Given the description of an element on the screen output the (x, y) to click on. 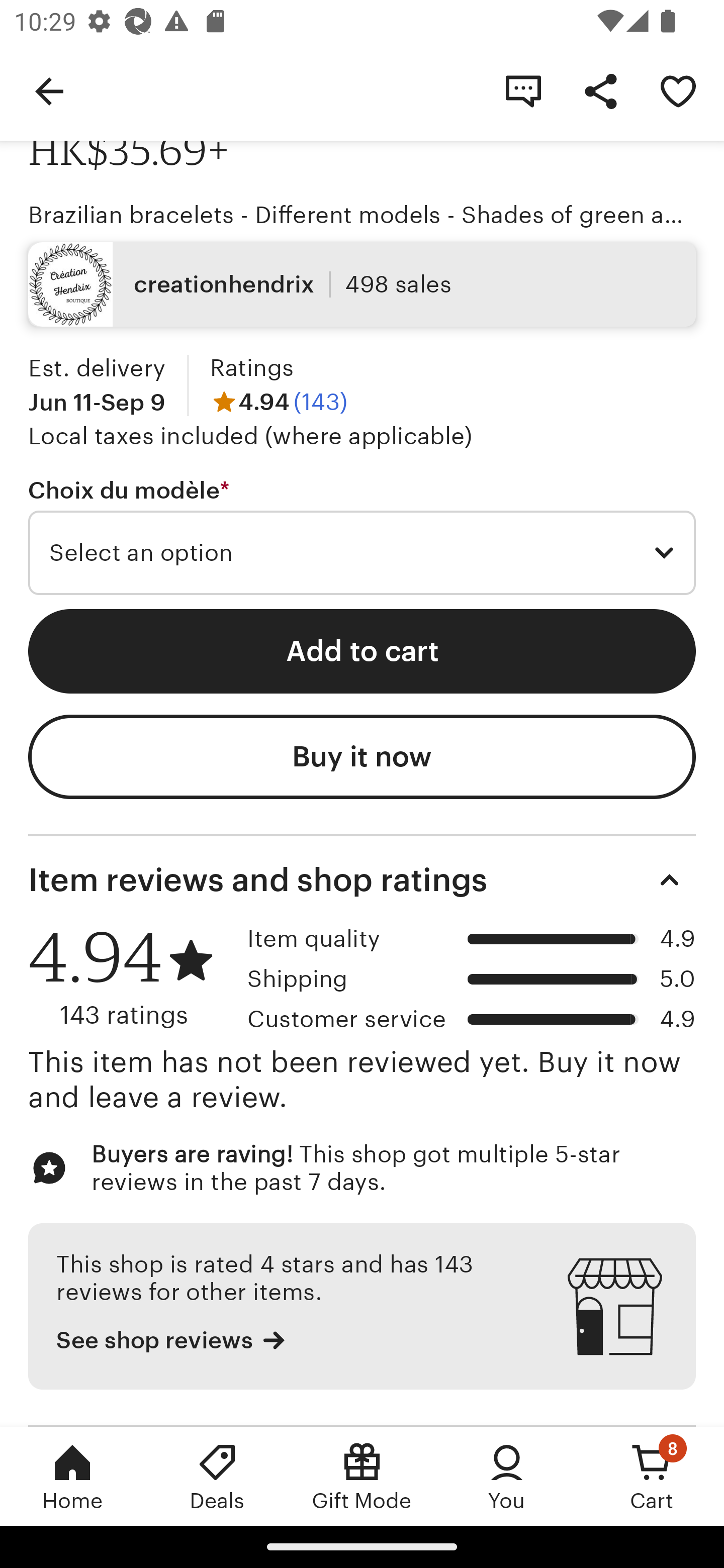
Navigate up (49, 90)
Contact shop (523, 90)
Share (600, 90)
creationhendrix 498 sales (361, 283)
Ratings (251, 367)
4.94 (143) (278, 401)
Choix du modèle * Required Select an option (361, 535)
Select an option (361, 552)
Add to cart (361, 650)
Buy it now (361, 757)
Item reviews and shop ratings (362, 879)
4.94 143 ratings (130, 976)
Deals (216, 1475)
Gift Mode (361, 1475)
You (506, 1475)
Cart, 8 new notifications Cart (651, 1475)
